Given the description of an element on the screen output the (x, y) to click on. 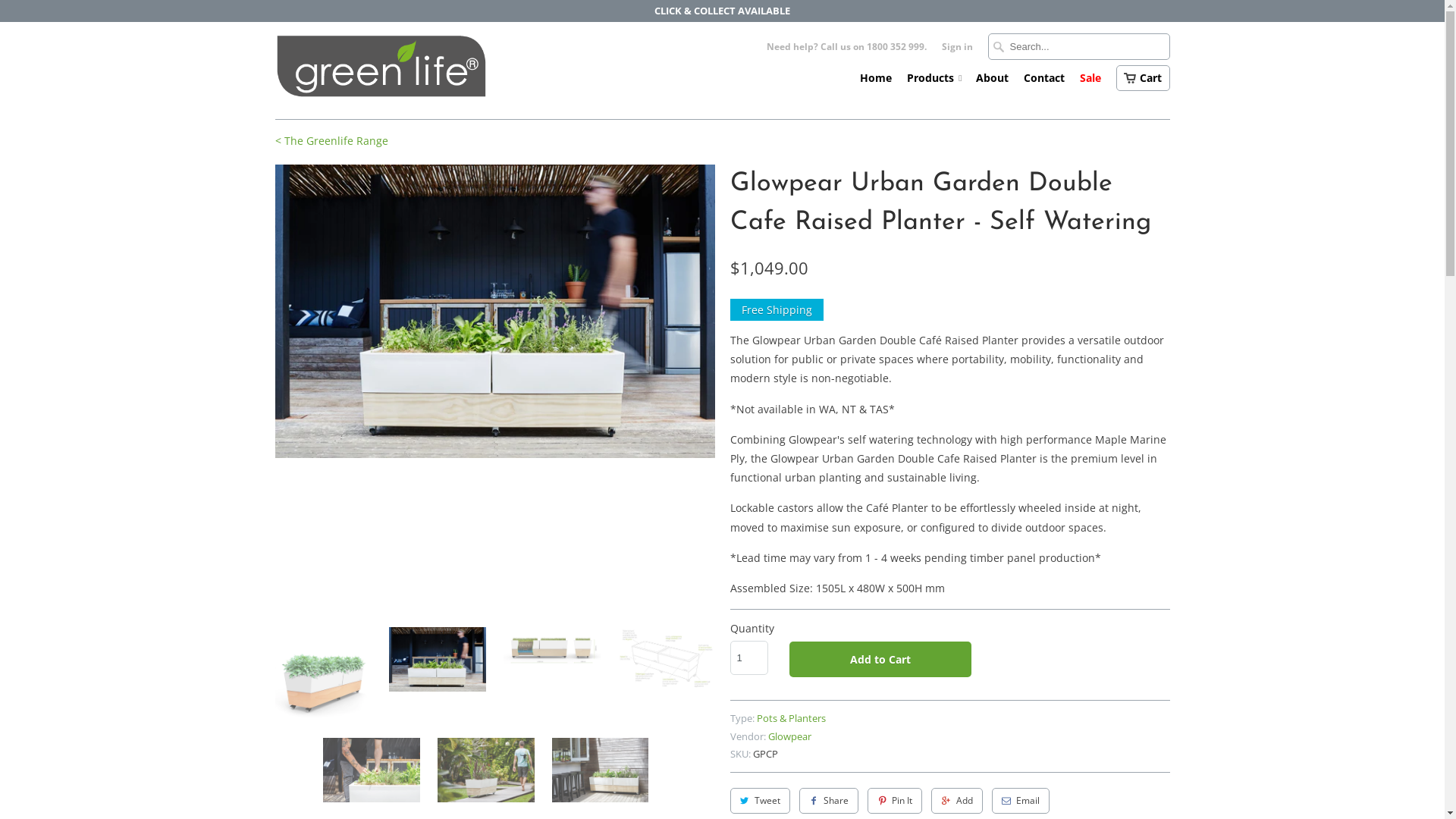
Add to Cart Element type: text (879, 659)
Contact Element type: text (1043, 81)
About Element type: text (991, 81)
< The Greenlife Range Element type: text (330, 140)
Glowpear Element type: text (788, 736)
Tweet Element type: text (759, 800)
Need help? Call us on 1800 352 999. Element type: text (845, 50)
Sign in Element type: text (956, 50)
Sale Element type: text (1090, 81)
Cart Element type: text (1143, 78)
CLICK & COLLECT AVAILABLE Element type: text (722, 10)
Add Element type: text (956, 800)
Email Element type: text (1020, 800)
Home Element type: text (875, 81)
Pin It Element type: text (894, 800)
Share Element type: text (828, 800)
Pots & Planters Element type: text (790, 717)
Greenlife Element type: hover (380, 70)
